Given the description of an element on the screen output the (x, y) to click on. 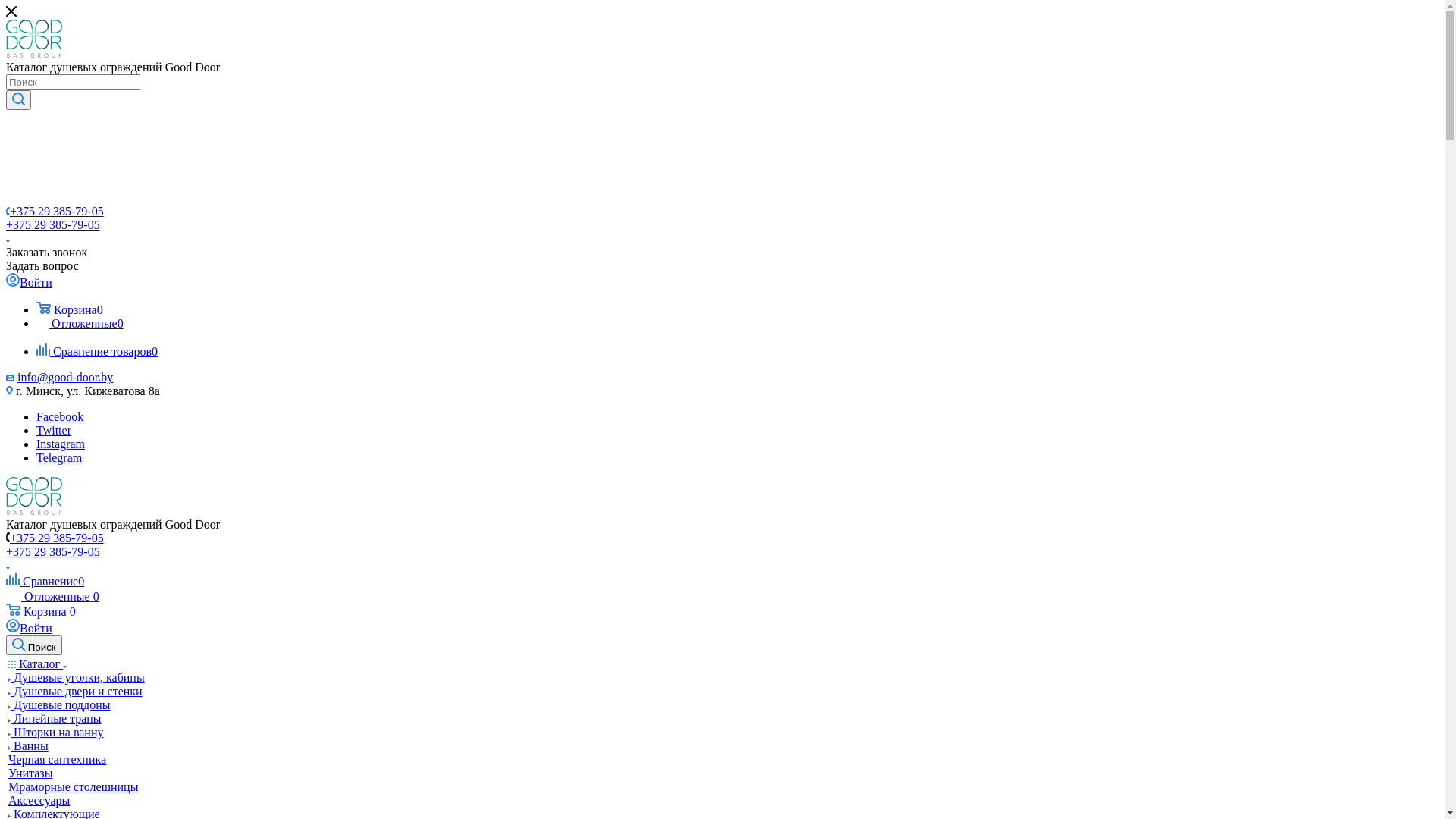
+375 29 385-79-05 Element type: text (53, 224)
+375 29 385-79-05 Element type: text (53, 551)
Telegram Element type: text (58, 457)
info@good-door.by Element type: text (64, 376)
+375 29 385-79-05 Element type: text (56, 210)
+375 29 385-79-05 Element type: text (56, 537)
Instagram Element type: text (60, 443)
Twitter Element type: text (53, 429)
Facebook Element type: text (59, 416)
